Given the description of an element on the screen output the (x, y) to click on. 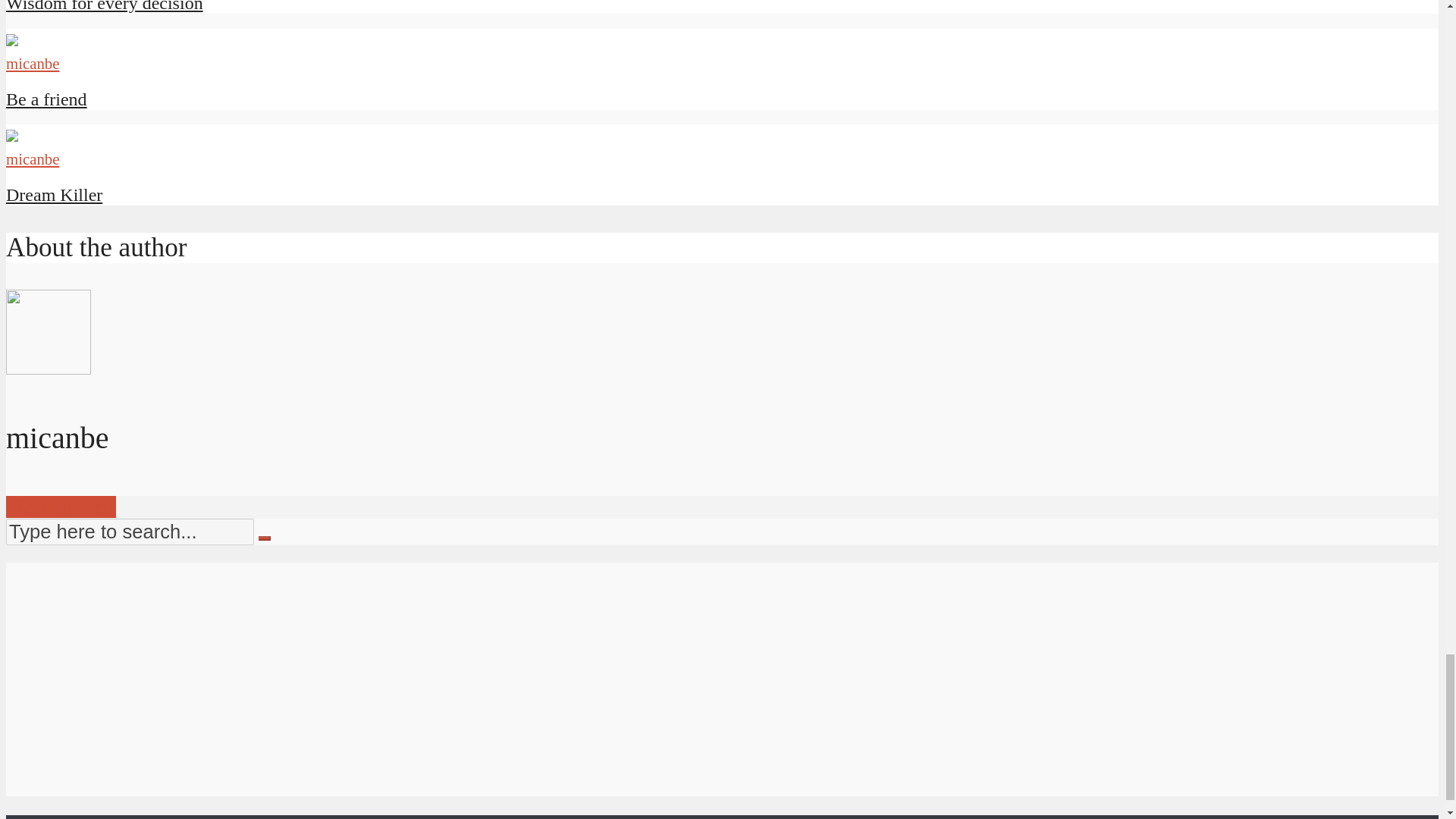
Be a friend (46, 98)
Dream Killer (53, 194)
View all posts (60, 506)
Type here to search... (129, 531)
Be a friend (46, 98)
Wisdom for every decision (104, 6)
Dream Killer (53, 194)
micanbe (32, 63)
Wisdom for every decision (104, 6)
micanbe (32, 158)
Type here to search... (129, 531)
